Given the description of an element on the screen output the (x, y) to click on. 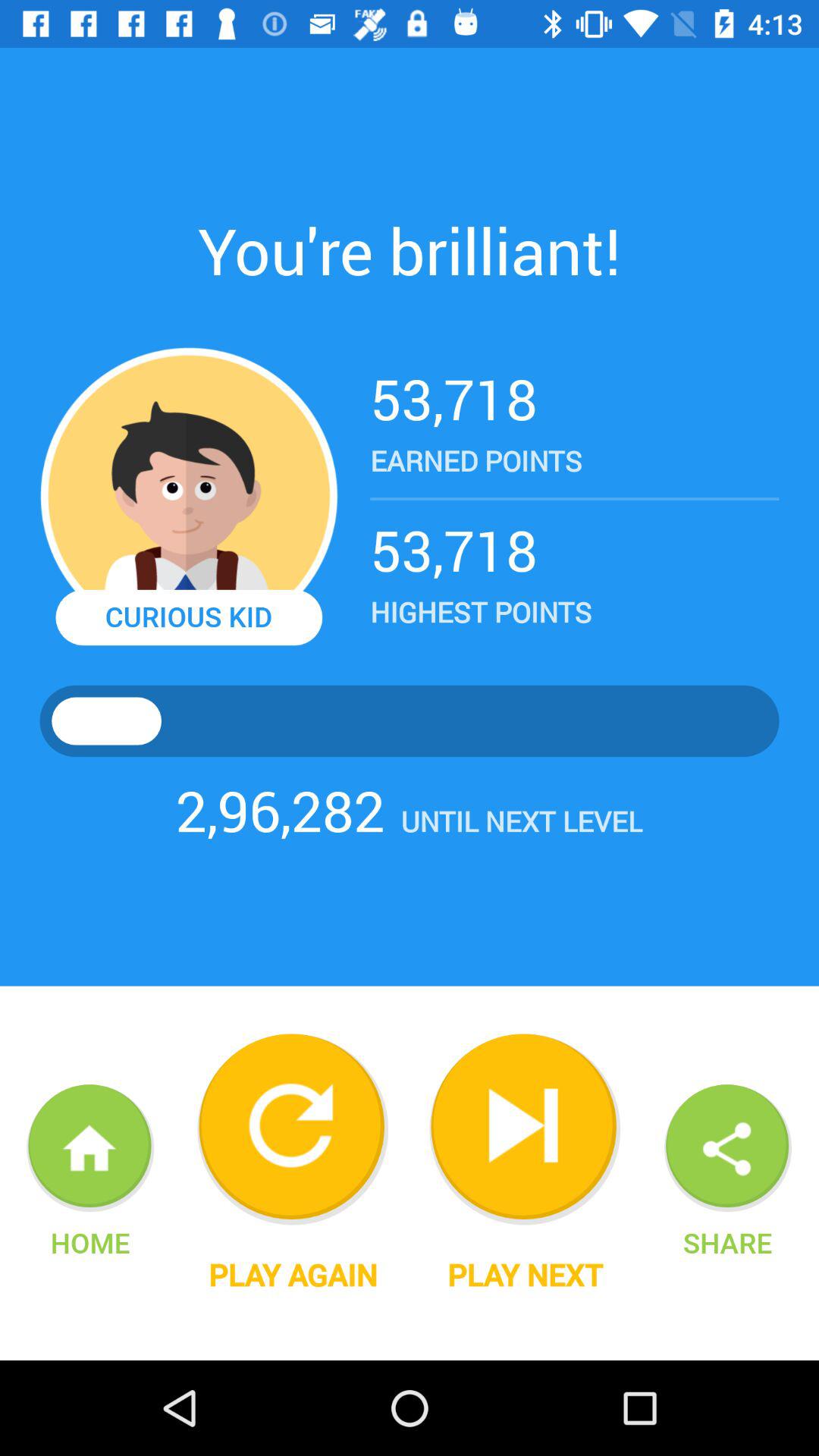
open the icon above the share (727, 1148)
